Given the description of an element on the screen output the (x, y) to click on. 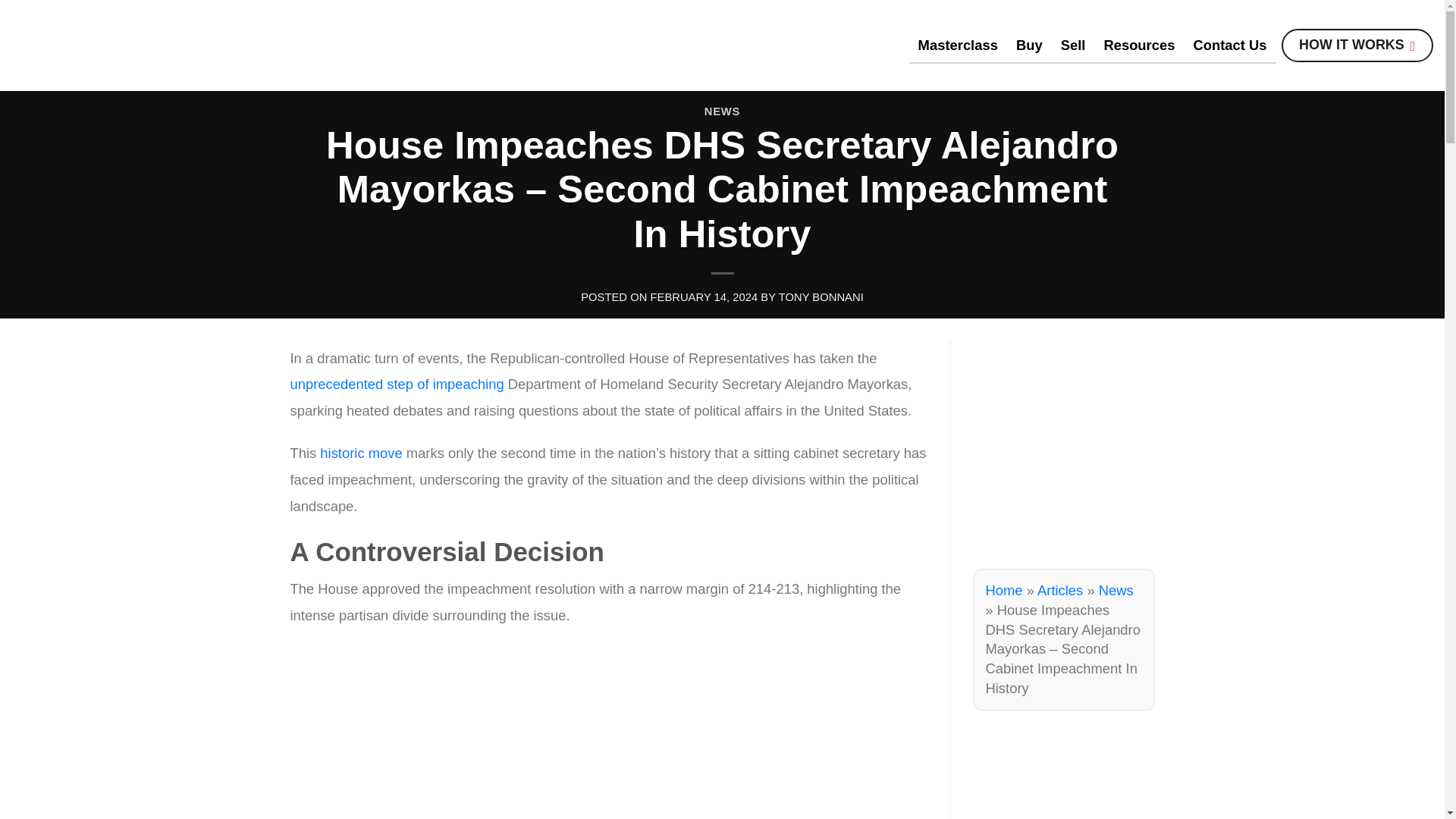
Resources (1138, 44)
historic move (360, 453)
Masterclass (957, 44)
unprecedented step of impeaching (396, 383)
Contact Us (1229, 44)
NEWS (721, 111)
TONY BONNANI (820, 297)
HOW IT WORKS (1356, 45)
FEBRUARY 14, 2024 (703, 297)
